Given the description of an element on the screen output the (x, y) to click on. 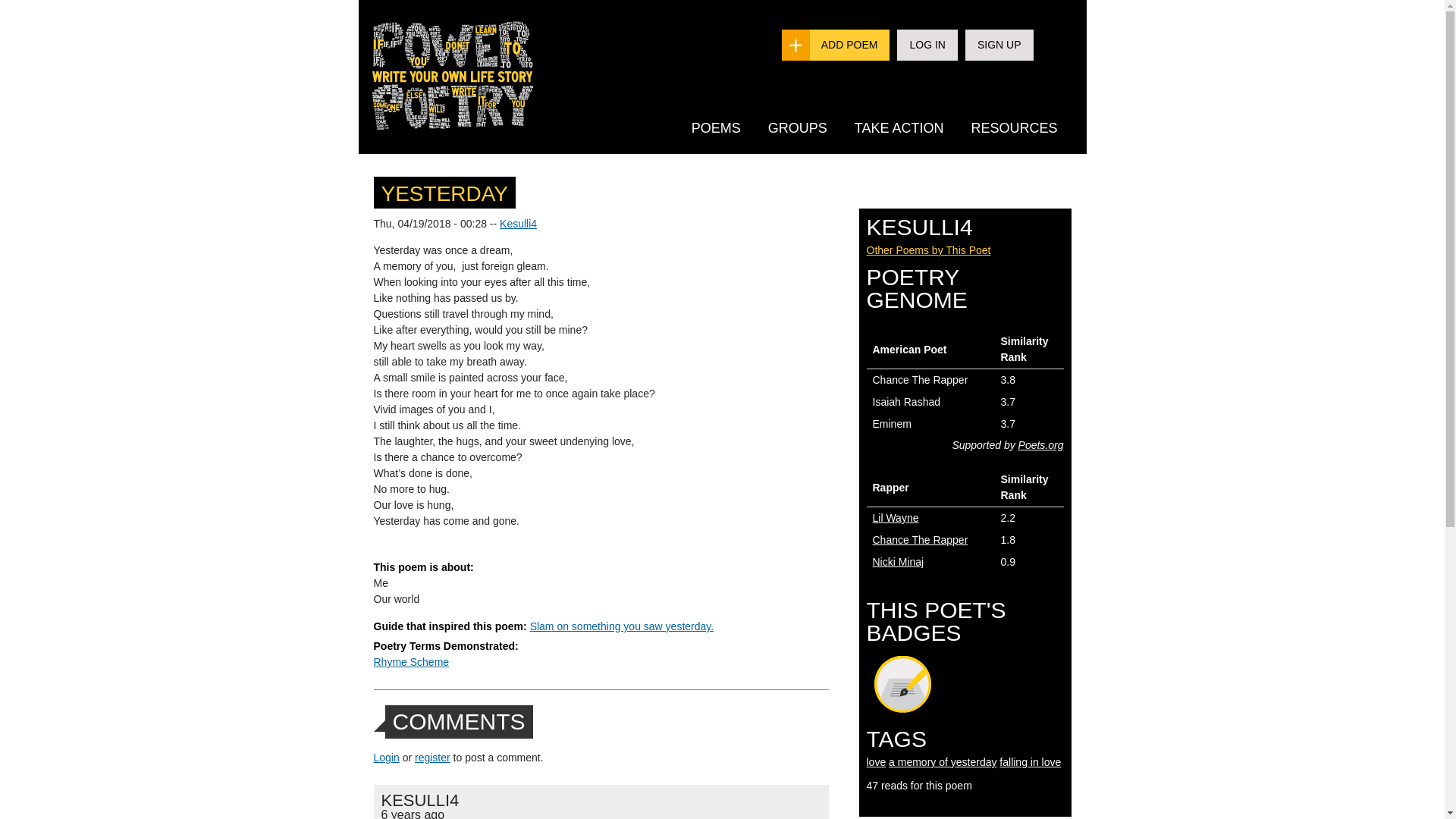
GROUPS (797, 127)
Kesulli4 (518, 223)
SIGN UP (999, 44)
TAKE ACTION (899, 127)
ADD POEM (849, 44)
POEMS (716, 127)
Skip to main content (691, 1)
RESOURCES (1013, 127)
LOG IN (926, 44)
